Given the description of an element on the screen output the (x, y) to click on. 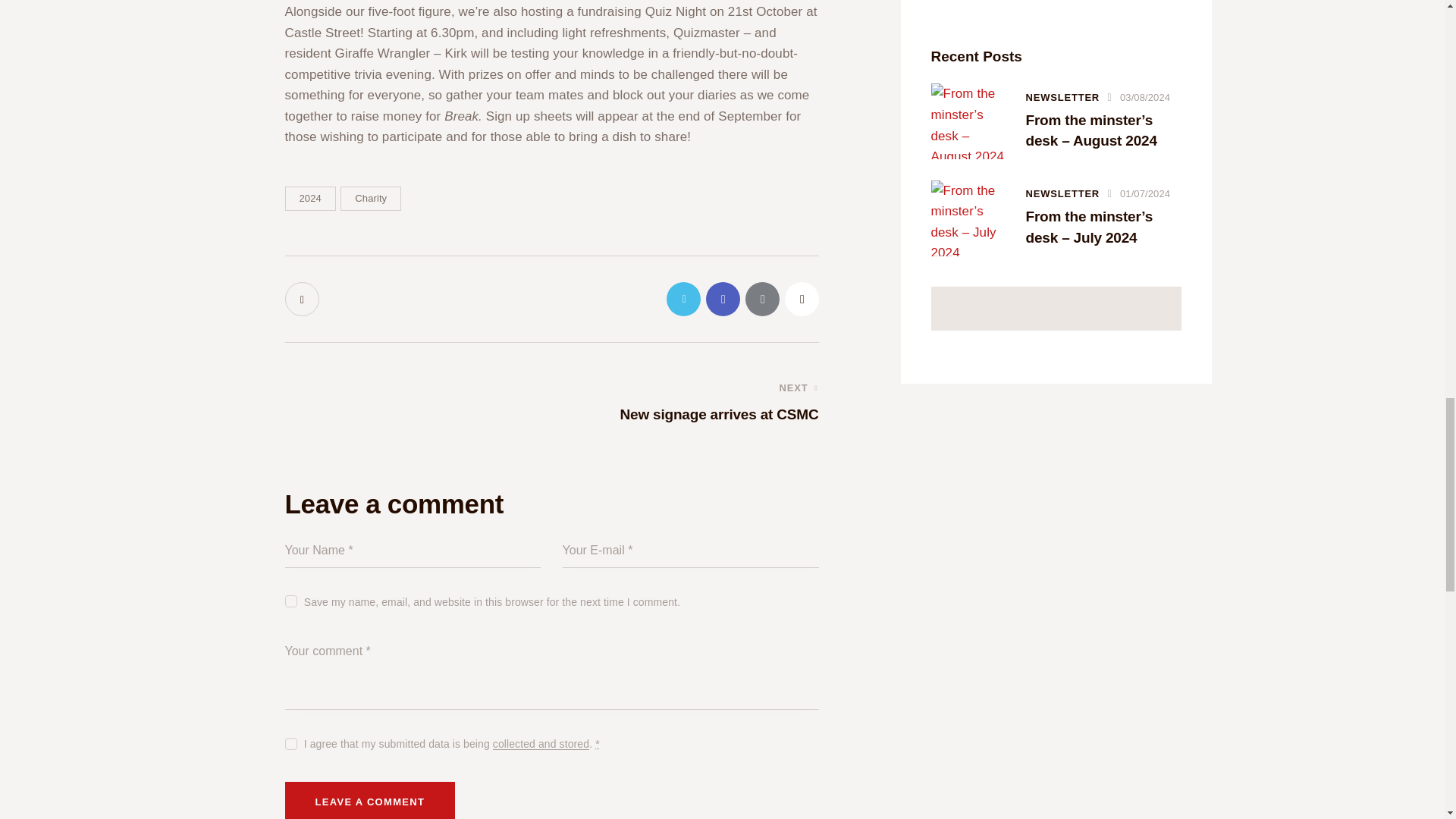
Like (303, 298)
1 (290, 740)
yes (290, 598)
Leave a comment (370, 800)
Copy URL to clipboard (801, 298)
